Given the description of an element on the screen output the (x, y) to click on. 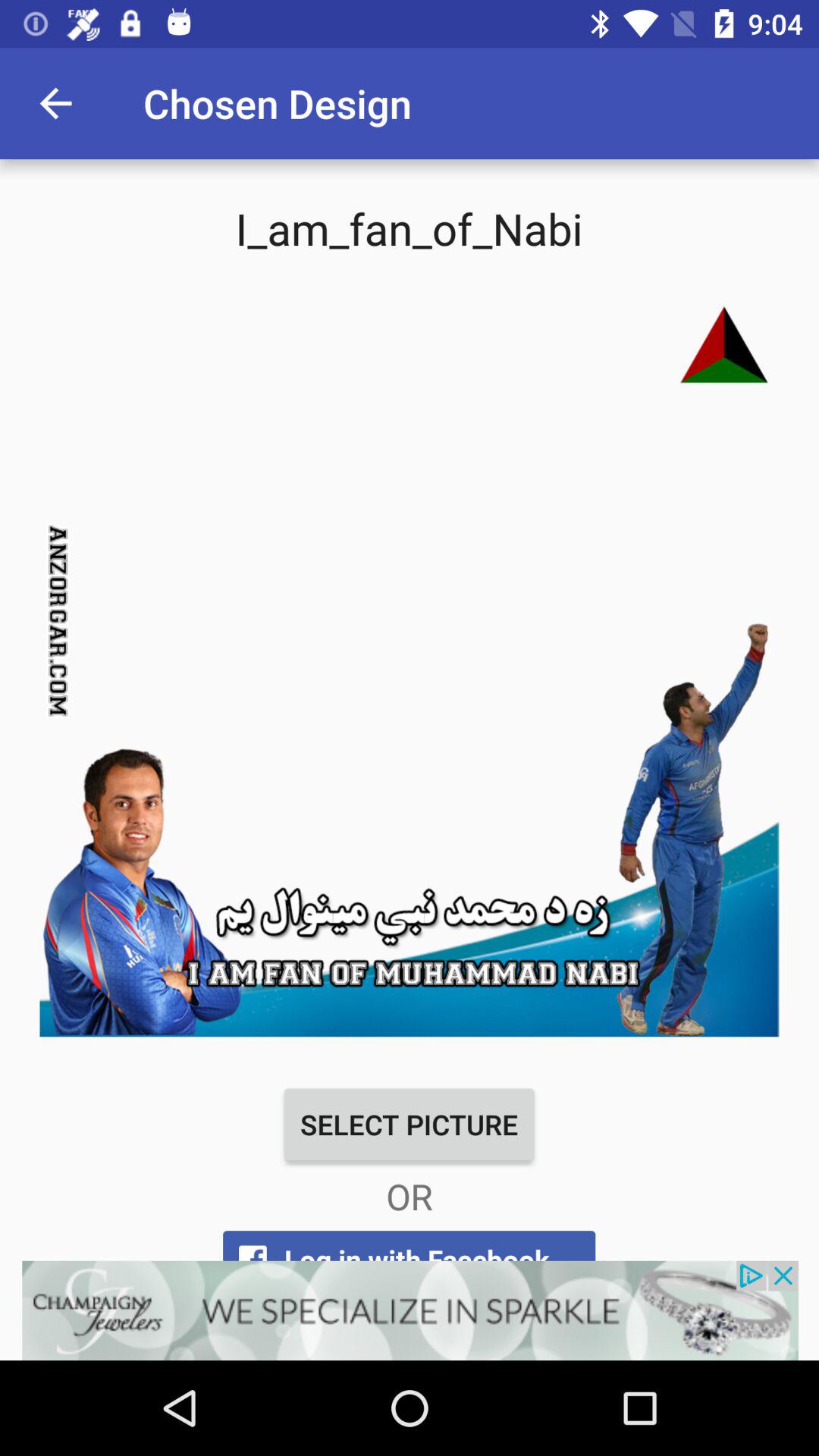
open an advertisements (409, 1310)
